Given the description of an element on the screen output the (x, y) to click on. 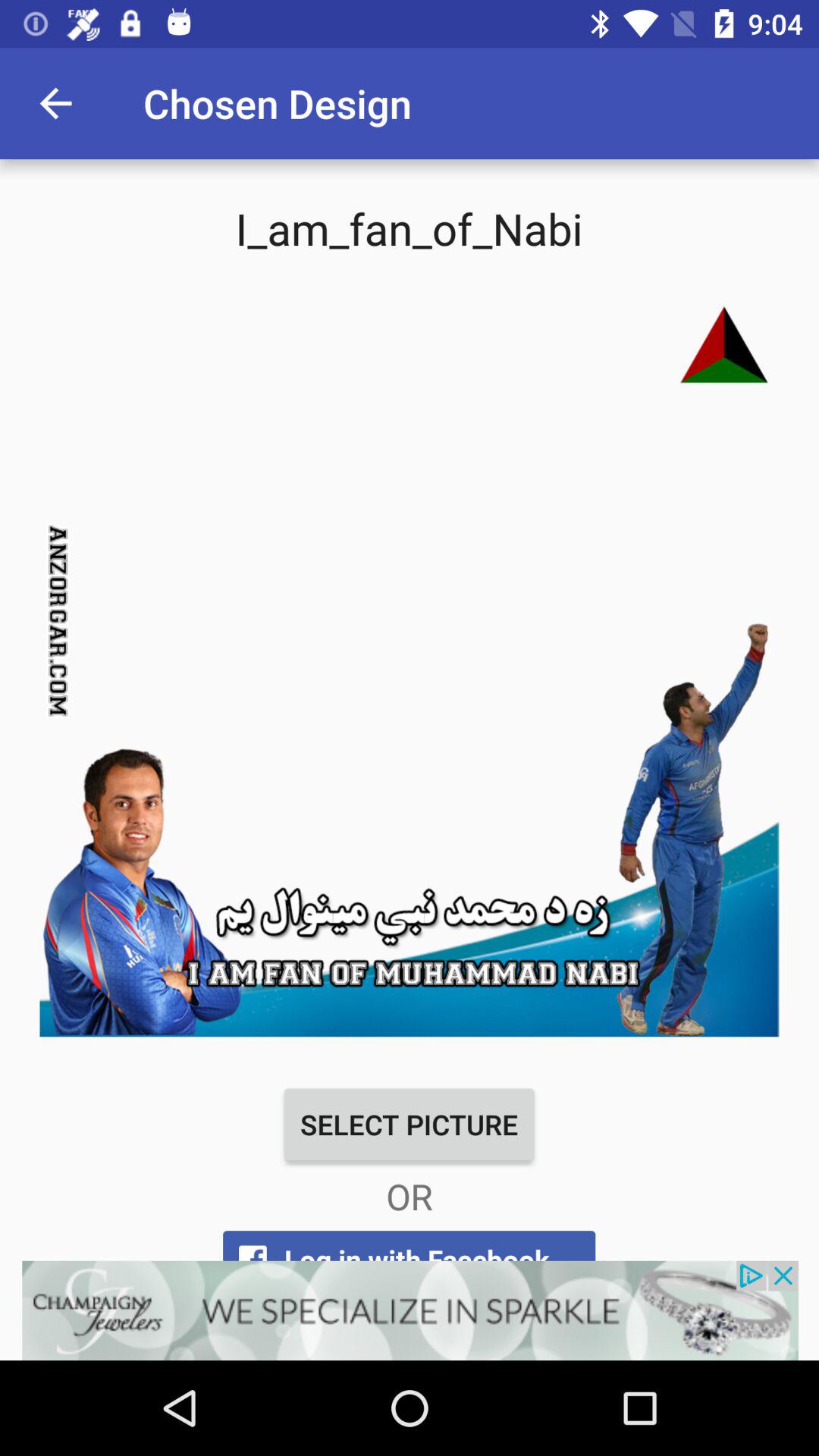
open an advertisements (409, 1310)
